Given the description of an element on the screen output the (x, y) to click on. 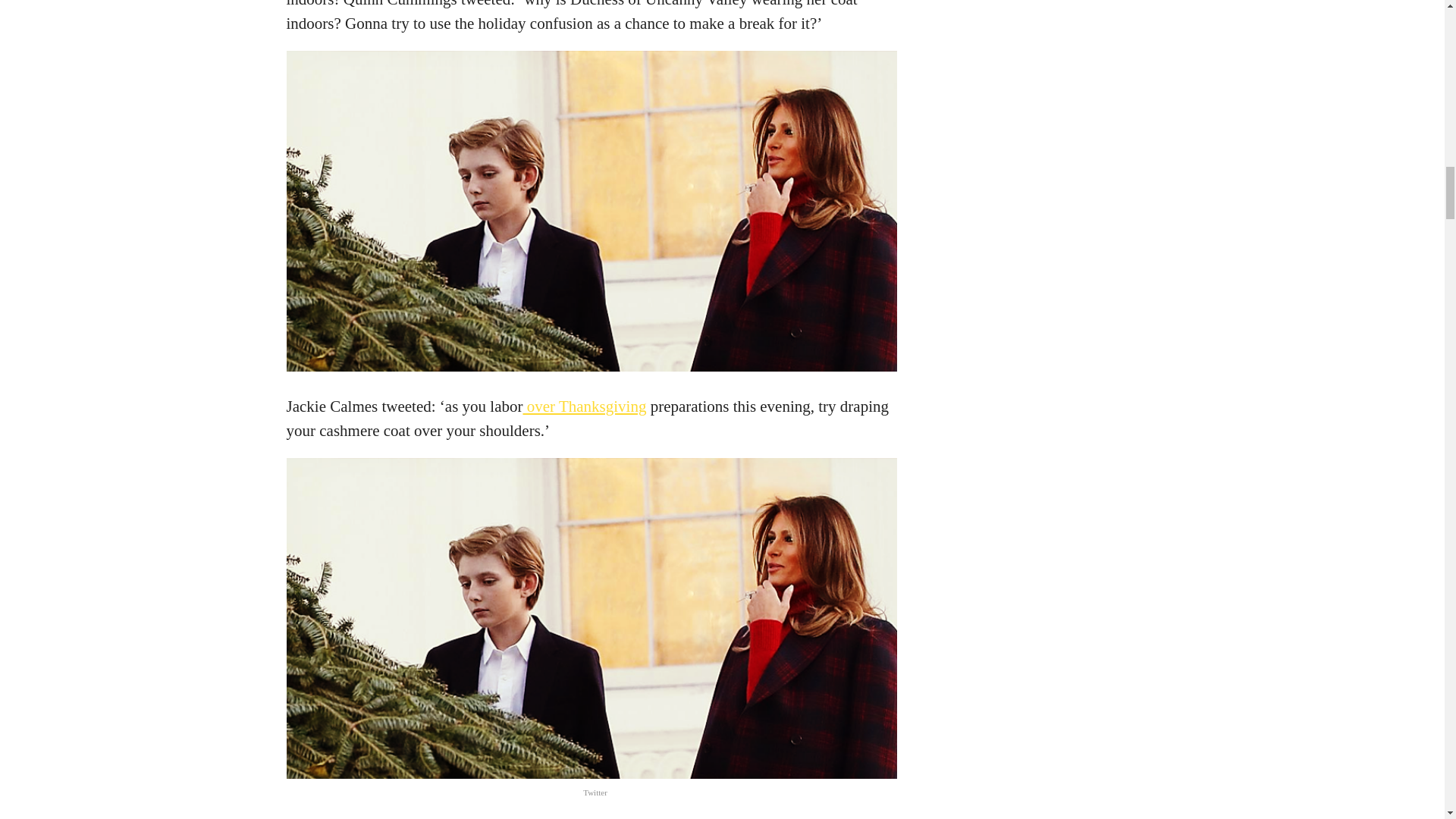
over Thanksgiving (584, 406)
